Given the description of an element on the screen output the (x, y) to click on. 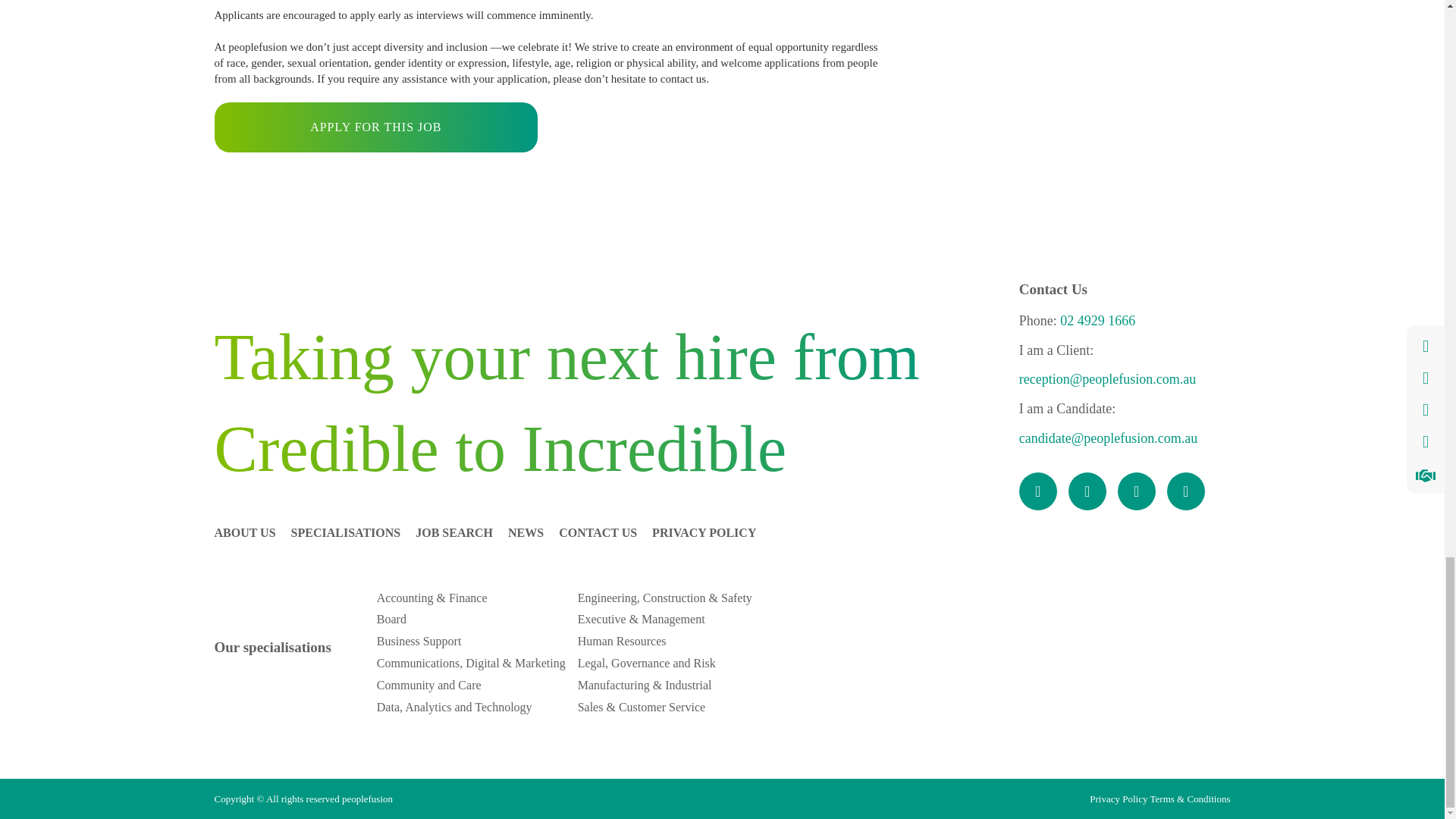
Linkedin (1137, 491)
Facebook (1038, 491)
Go to the Homepage (377, 265)
Instagram (1087, 491)
Youtube (1186, 491)
